Given the description of an element on the screen output the (x, y) to click on. 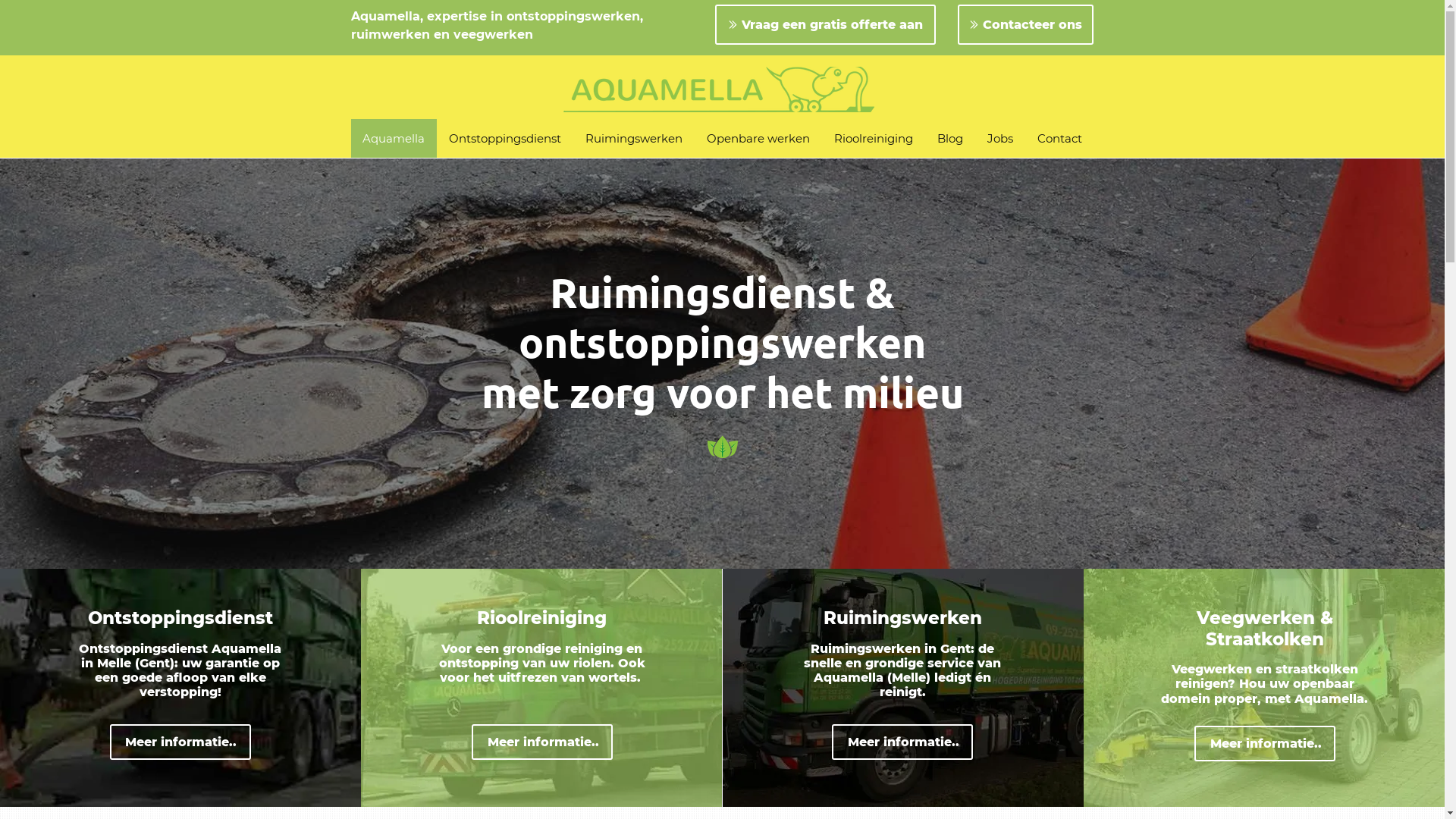
Vraag een gratis offerte aan Element type: text (824, 24)
Meer informatie.. Element type: text (1264, 743)
Ruimingswerken Element type: text (633, 138)
Meer informatie.. Element type: text (180, 741)
Contacteer ons Element type: text (1024, 24)
Rioolreiniging Element type: text (873, 138)
Meer informatie.. Element type: text (901, 741)
Blog Element type: text (950, 138)
Aquamella Element type: text (393, 138)
Ontstoppingsdienst Element type: text (504, 138)
Meer informatie.. Element type: text (541, 741)
Openbare werken Element type: text (758, 138)
Contact Element type: text (1059, 138)
Jobs Element type: text (1000, 138)
